Given the description of an element on the screen output the (x, y) to click on. 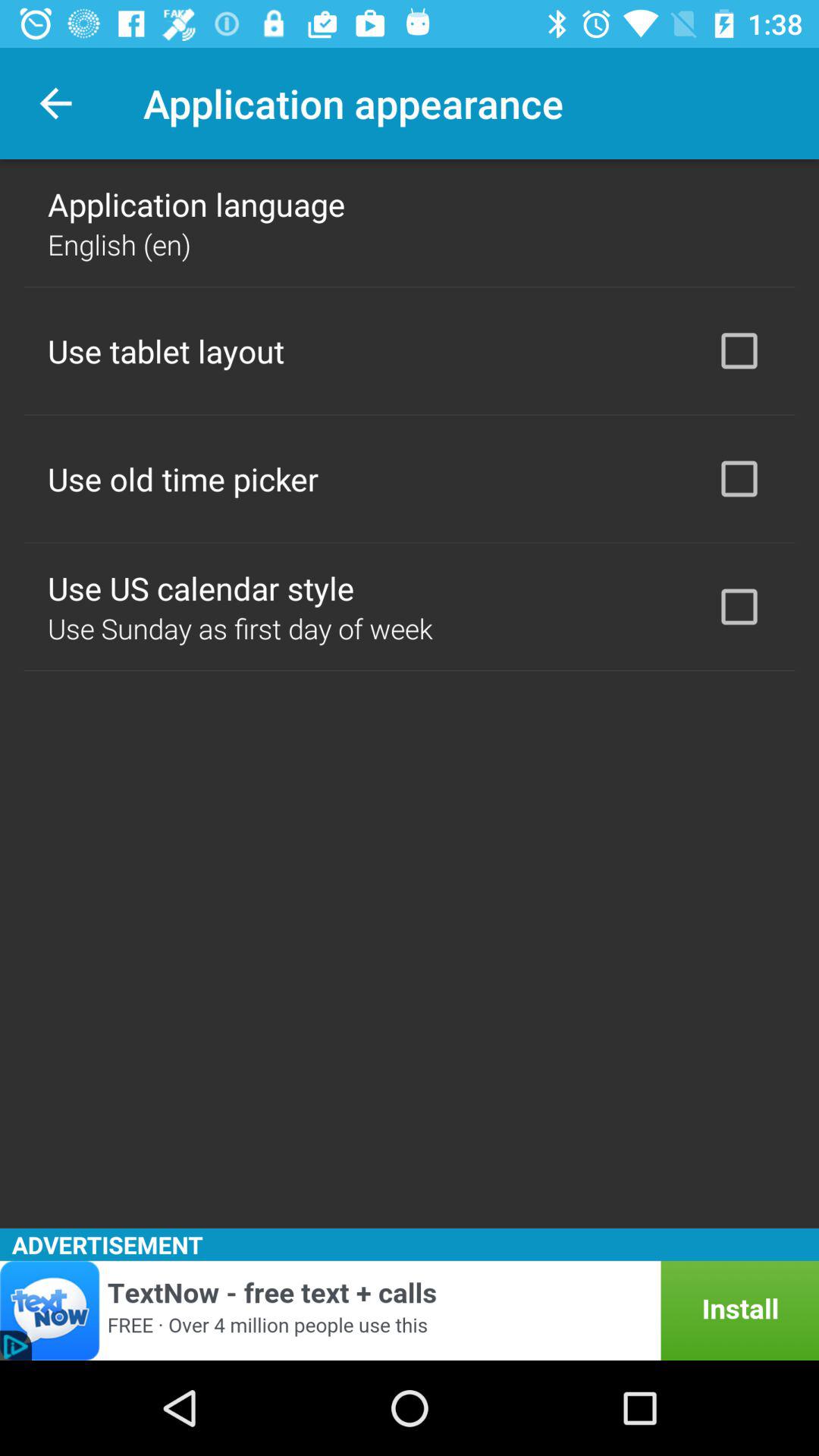
choose the item on the right (739, 606)
